Given the description of an element on the screen output the (x, y) to click on. 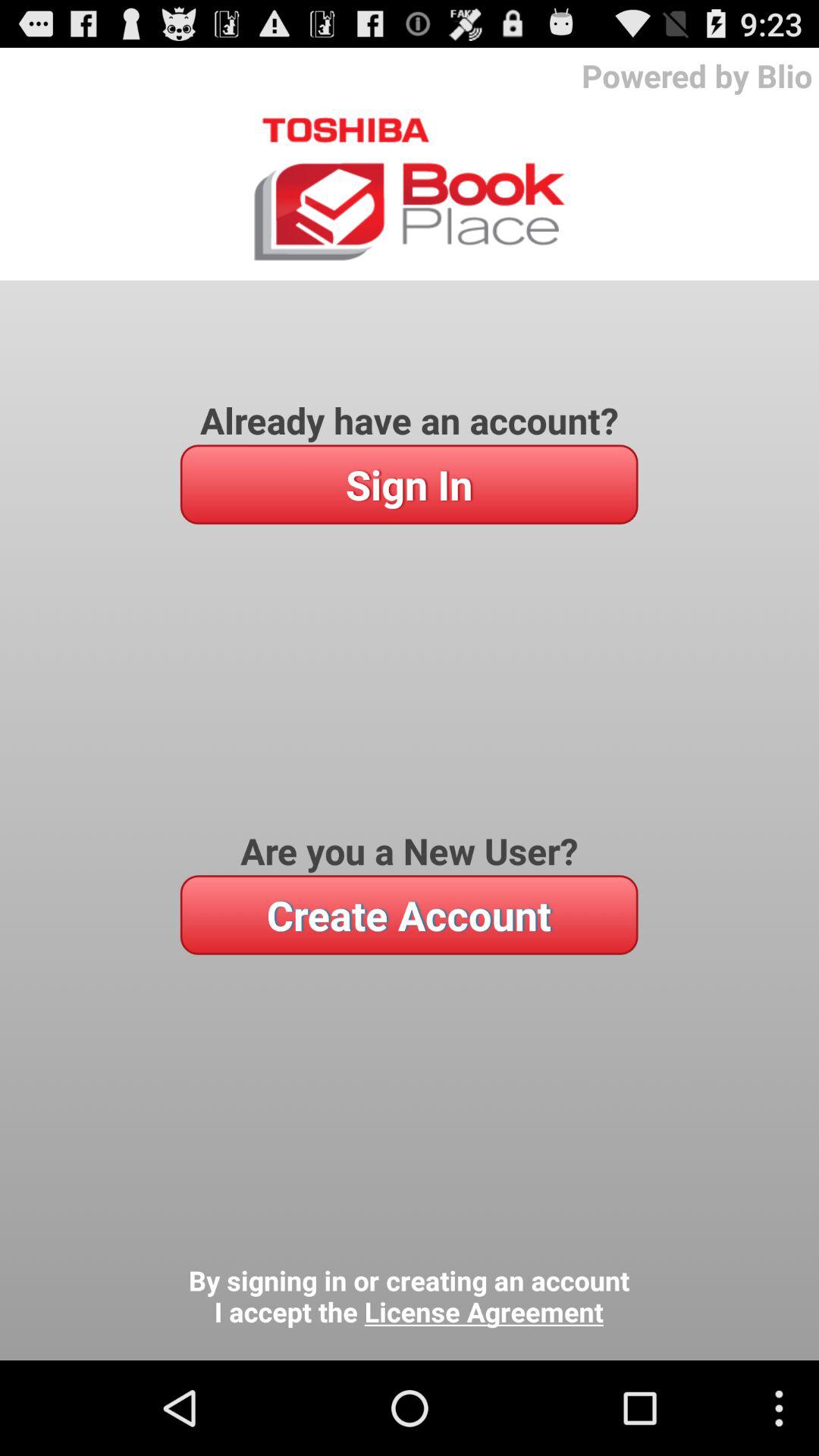
flip until create account (409, 914)
